Given the description of an element on the screen output the (x, y) to click on. 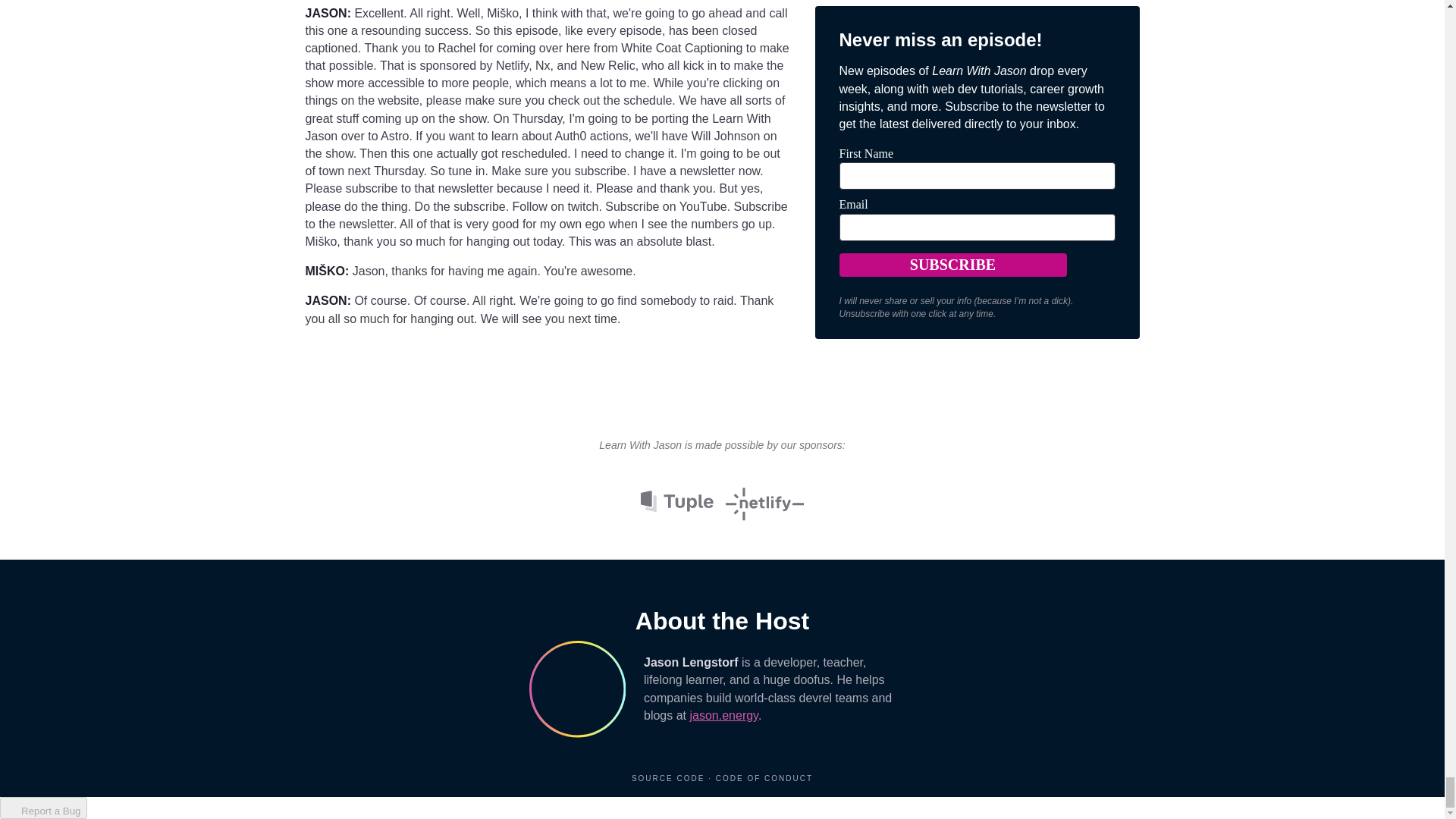
SOURCE CODE (669, 777)
CODE OF CONDUCT (764, 777)
jason.energy (722, 715)
Netlify (764, 500)
